Given the description of an element on the screen output the (x, y) to click on. 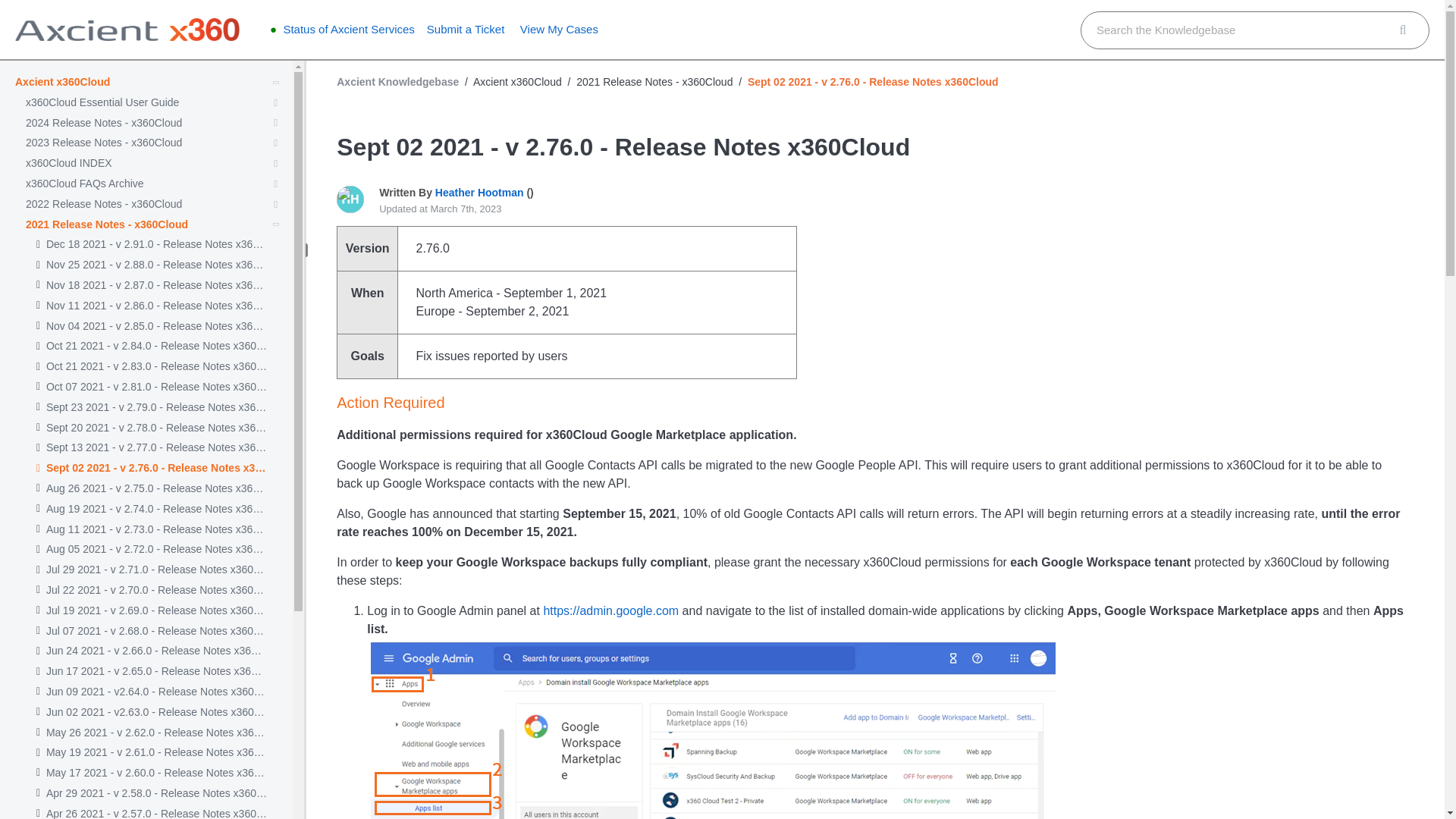
Aug 05 2021 - v 2.72.0 - Release Notes x360Cloud (156, 549)
Nov 04 2021 - v 2.85.0 - Release Notes x360Cloud (156, 326)
Sept 23 2021 - v 2.79.0 - Release Notes x360Cloud (156, 407)
Oct 07 2021 - v 2.81.0 - Release Notes x360Cloud (156, 386)
Aug 11 2021 - v 2.73.0 - Release Notes x360Cloud (156, 529)
Jul 22 2021 - v 2.70.0 - Release Notes x360Cloud (156, 590)
x360Cloud FAQs Archive (85, 183)
2024 Release Notes - x360Cloud (104, 123)
Axcient x360Cloud (62, 82)
Jul 29 2021 - v 2.71.0 - Release Notes x360Cloud (156, 569)
Aug 19 2021 - v 2.74.0 - Release Notes x360Cloud (156, 508)
Nov 18 2021 - v 2.87.0 - Release Notes x360Cloud (156, 285)
Dec 18 2021 - v 2.91.0 - Release Notes x360Cloud (156, 244)
x360Cloud Essential User Guide (102, 102)
Nov 11 2021 - v 2.86.0 - Release Notes x360Cloud (156, 305)
